Given the description of an element on the screen output the (x, y) to click on. 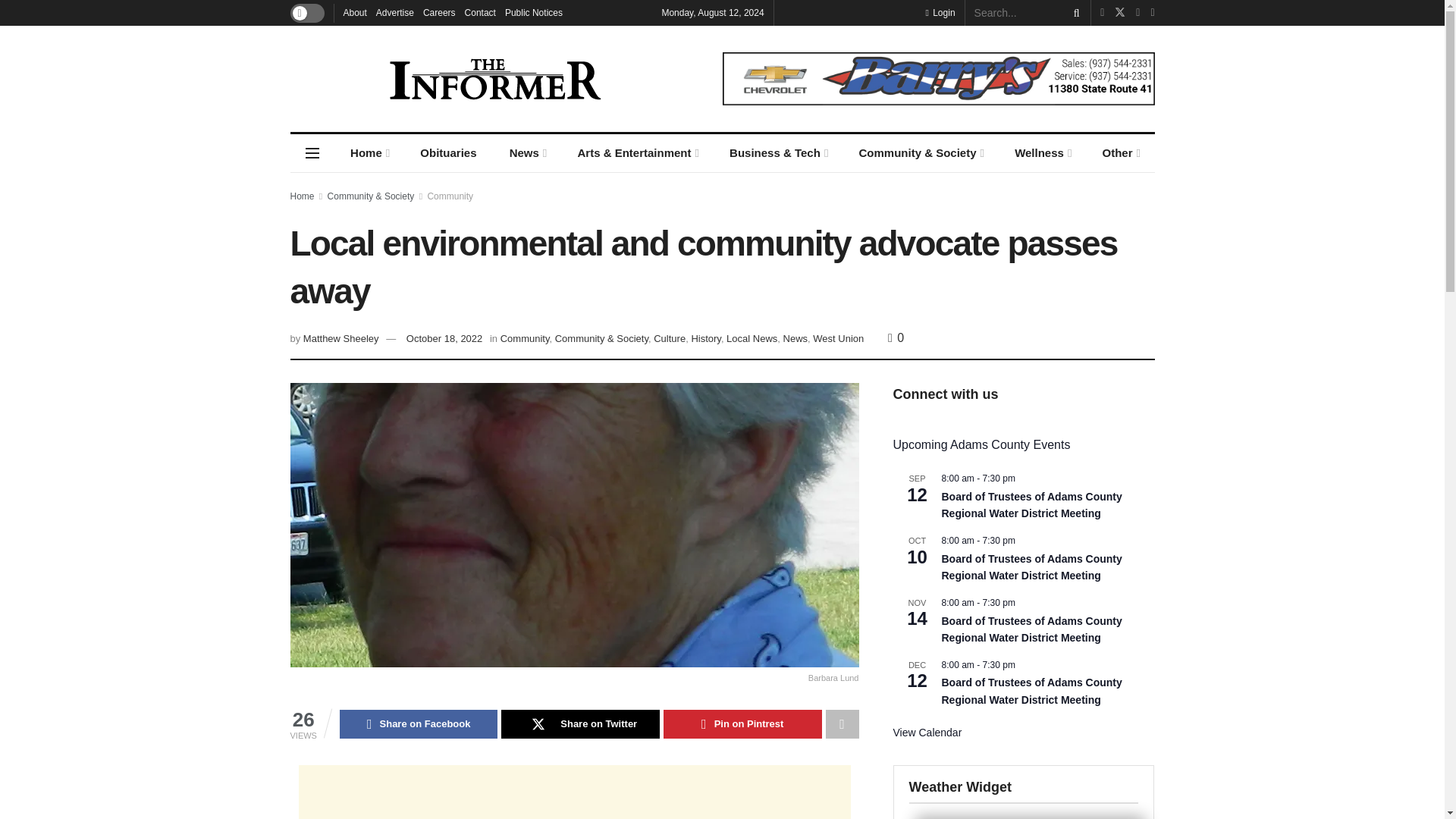
News (526, 152)
Home (368, 152)
Careers (439, 12)
Obituaries (448, 152)
Advertisement (574, 791)
Advertise (394, 12)
